Given the description of an element on the screen output the (x, y) to click on. 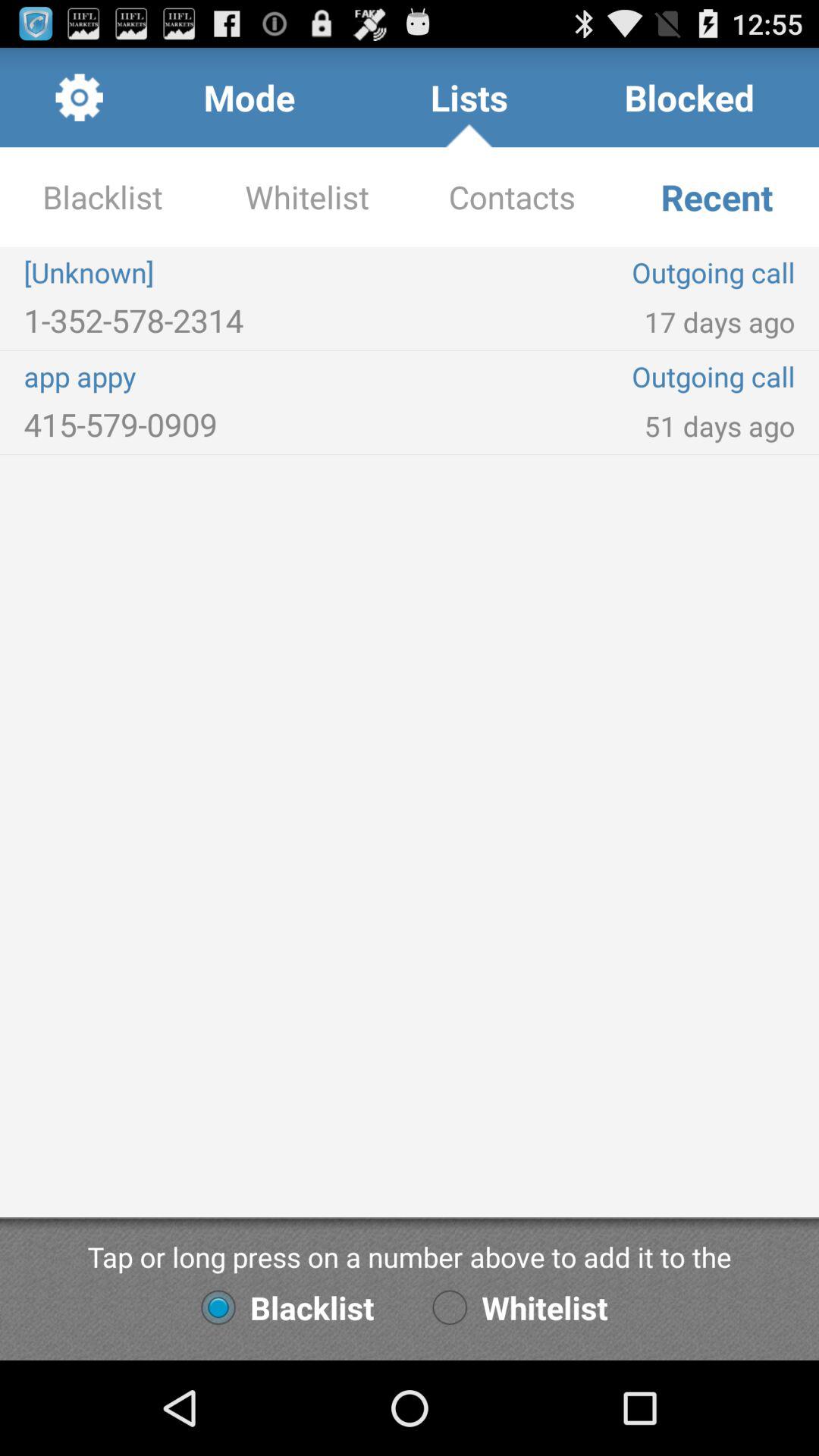
tap the icon next to the contacts app (216, 272)
